Given the description of an element on the screen output the (x, y) to click on. 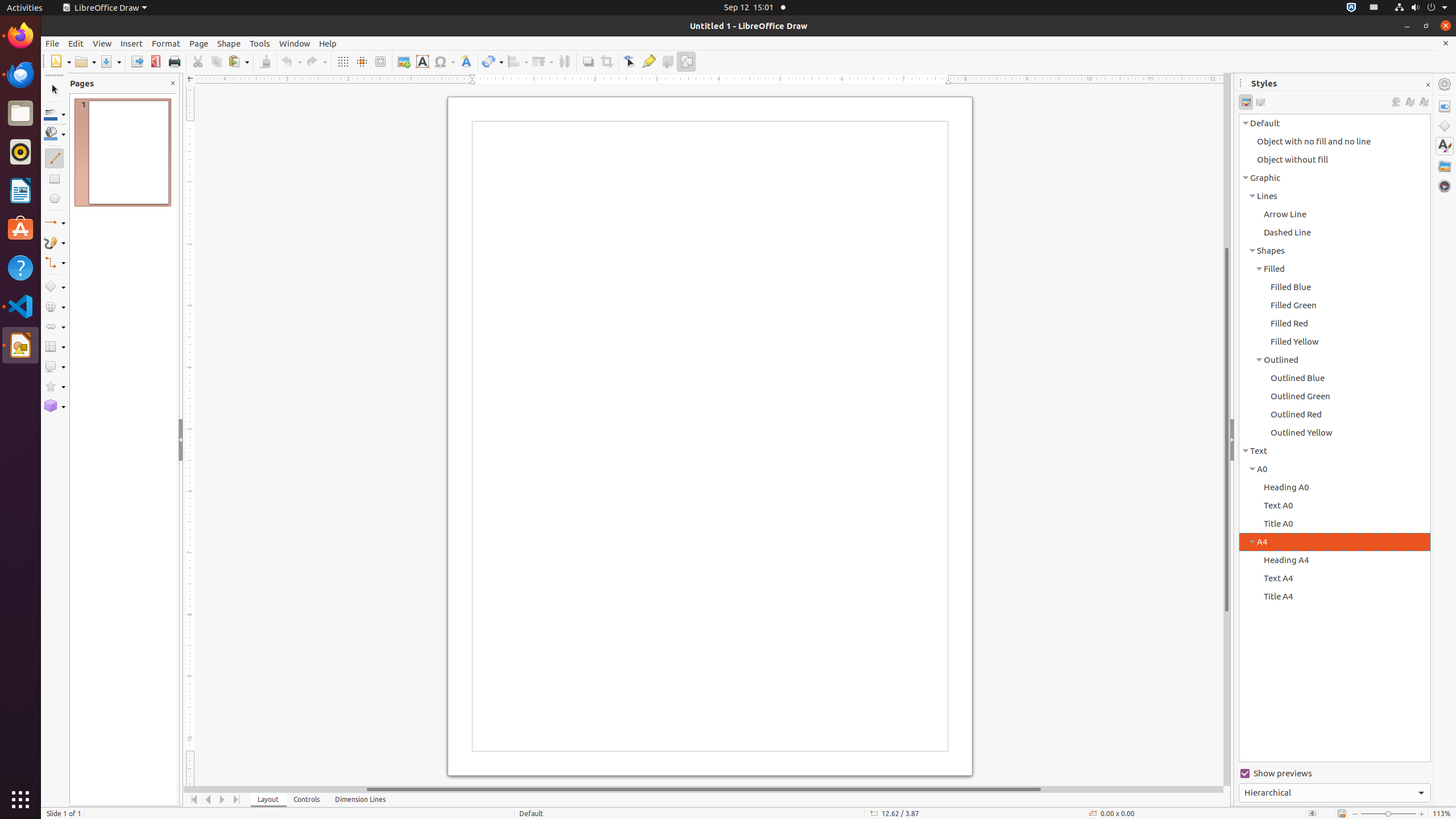
Layout Element type: page-tab (268, 799)
Visual Studio Code Element type: push-button (20, 306)
Text Box Element type: push-button (421, 61)
File Element type: menu (51, 43)
PDF Element type: push-button (155, 61)
